Given the description of an element on the screen output the (x, y) to click on. 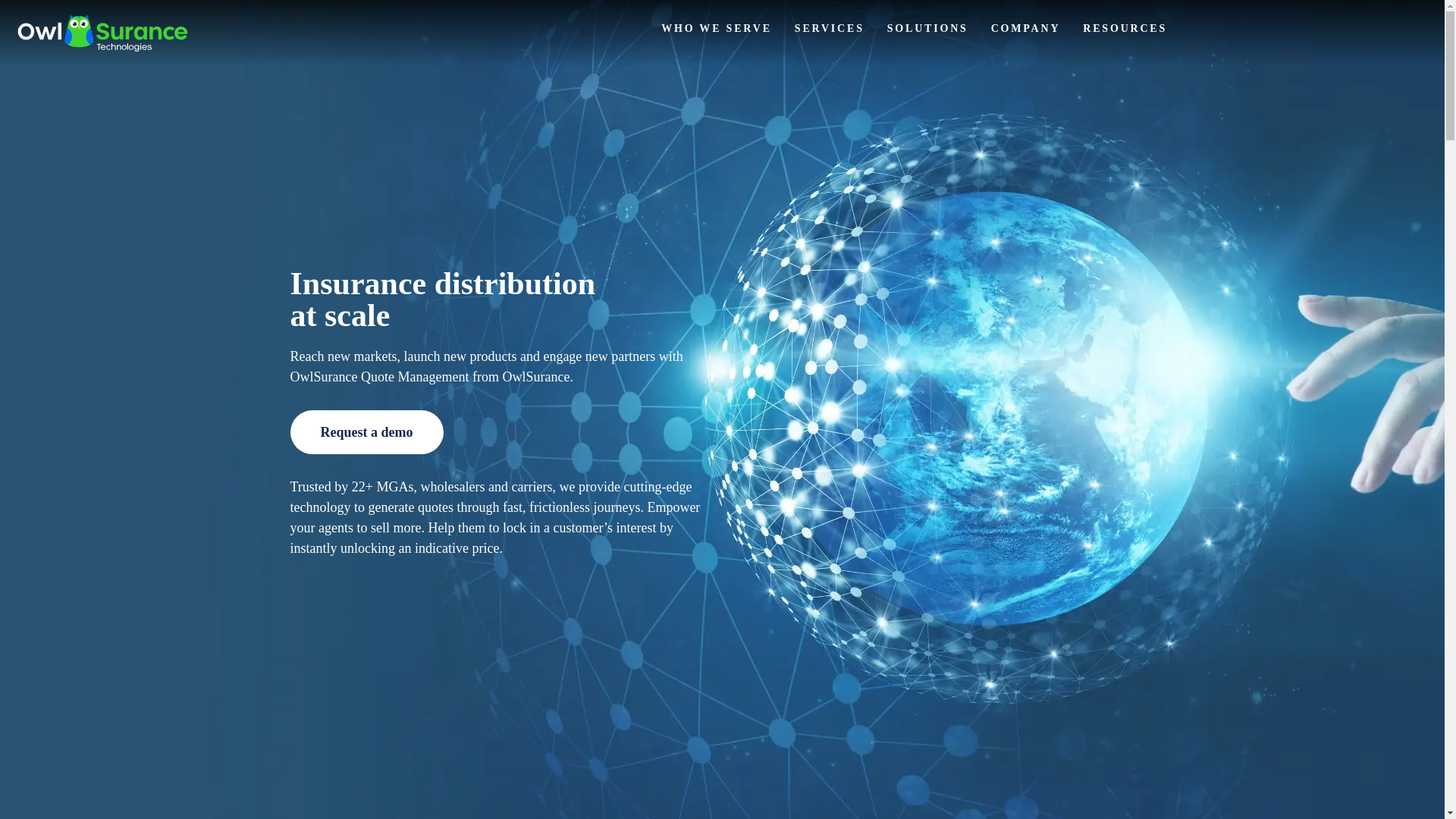
WHO WE SERVE (715, 28)
RESOURCES (1124, 28)
SOLUTIONS (927, 28)
COMPANY (1026, 28)
SERVICES (829, 28)
